Given the description of an element on the screen output the (x, y) to click on. 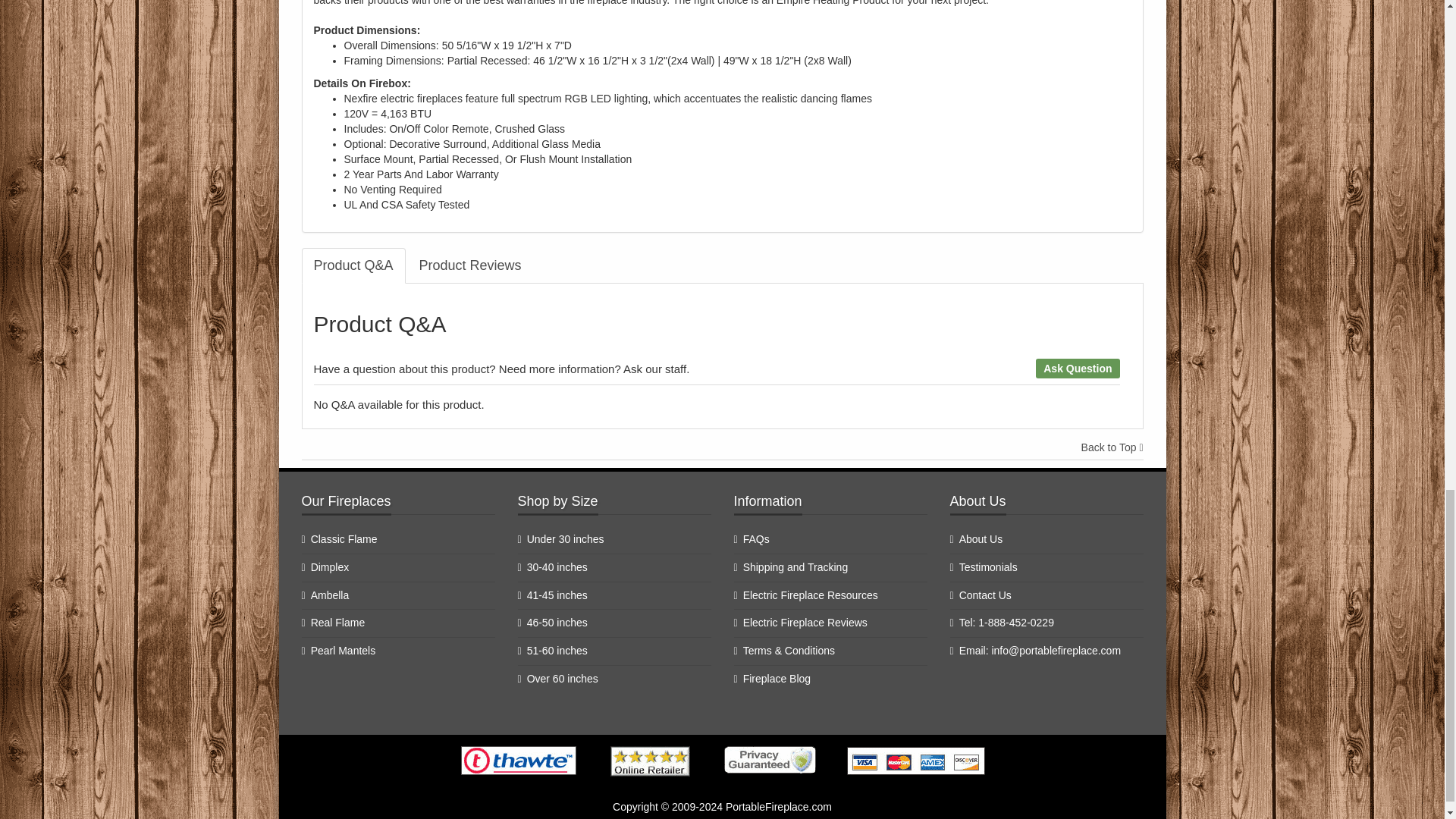
Back to Top (1111, 447)
